Given the description of an element on the screen output the (x, y) to click on. 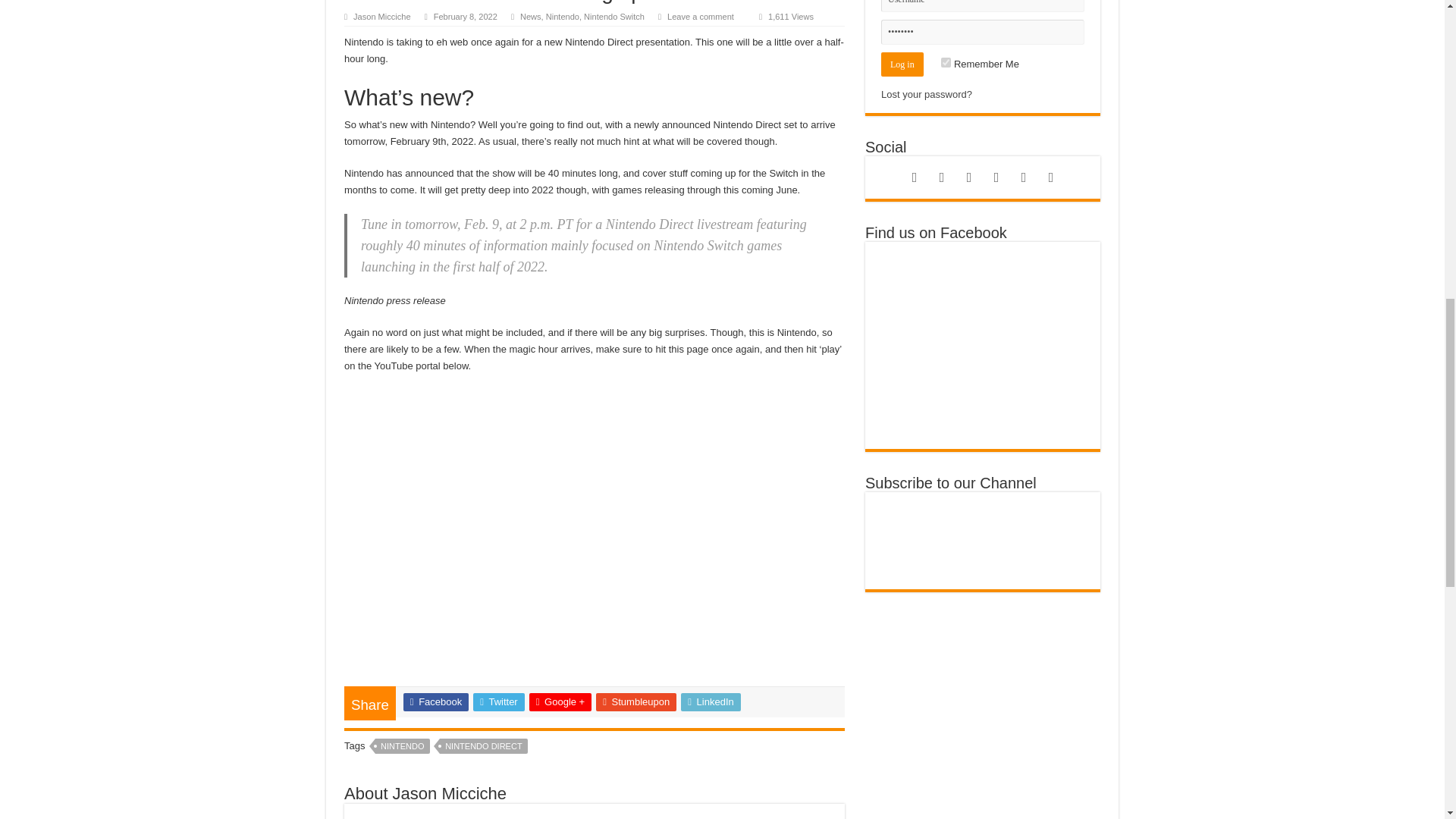
forever (945, 62)
Password (982, 32)
Username (982, 6)
Log in (901, 64)
